Given the description of an element on the screen output the (x, y) to click on. 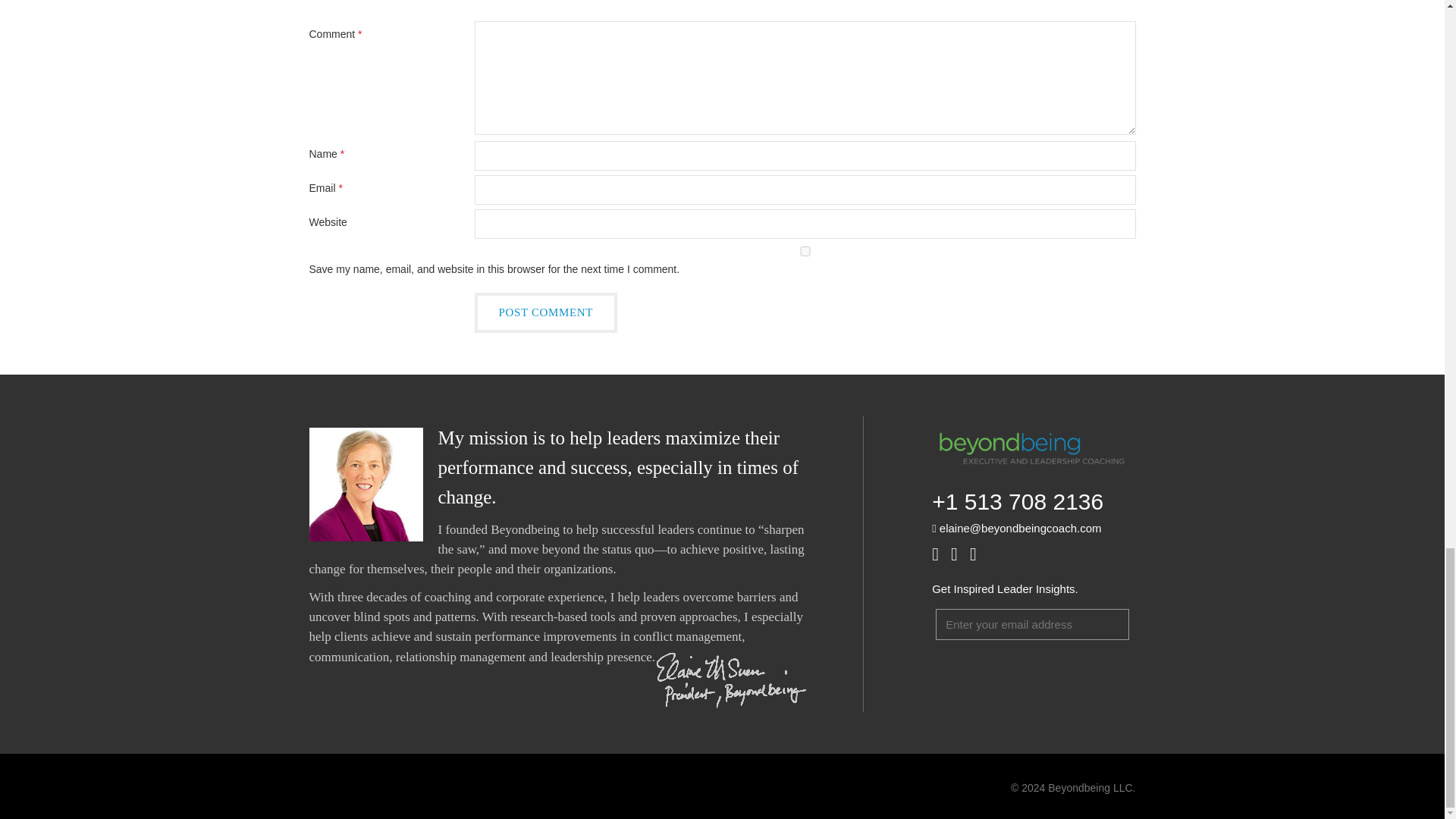
Post Comment (545, 312)
yes (804, 251)
